Given the description of an element on the screen output the (x, y) to click on. 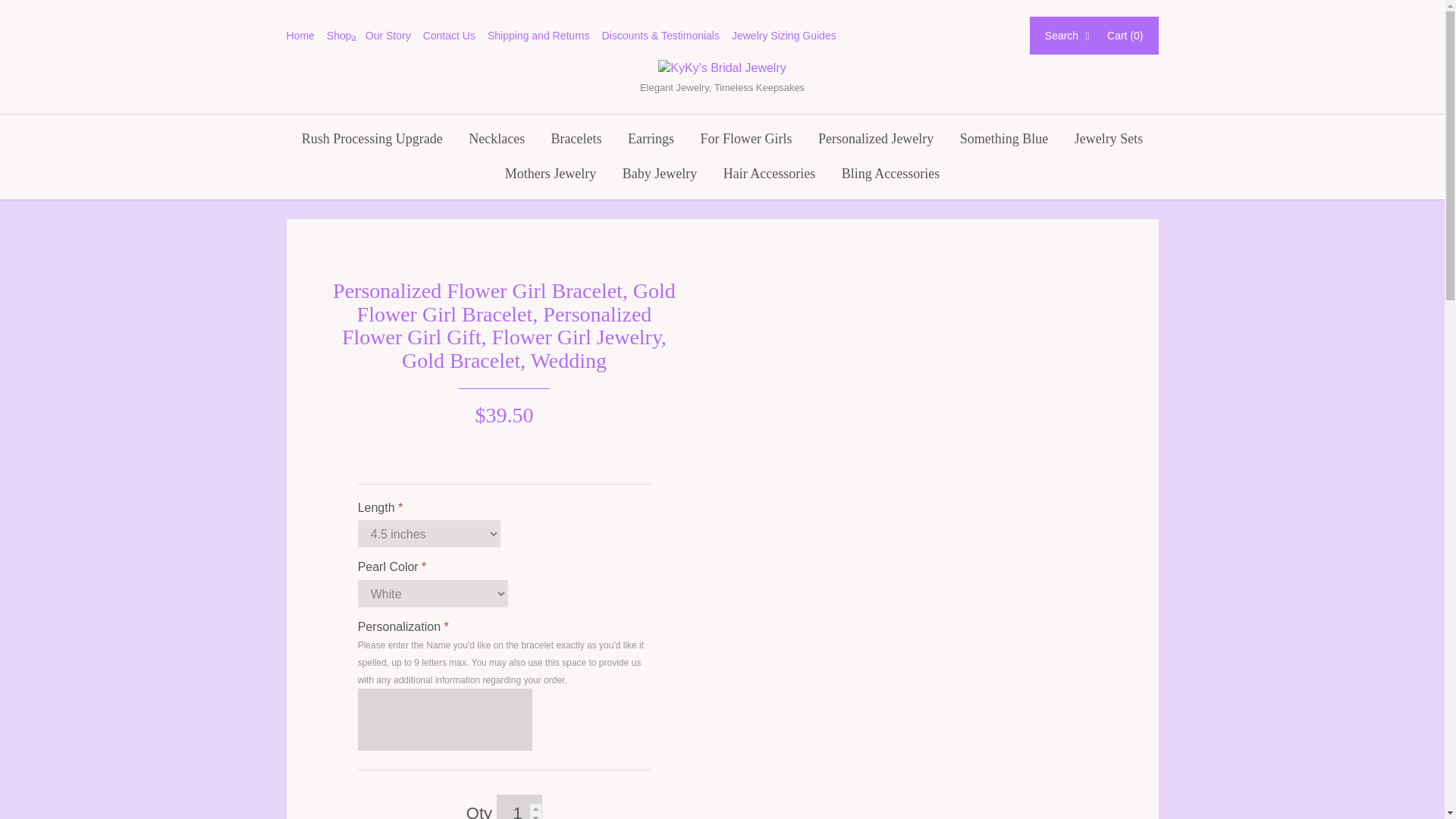
Home (306, 35)
Shop (345, 35)
1 (518, 806)
